Given the description of an element on the screen output the (x, y) to click on. 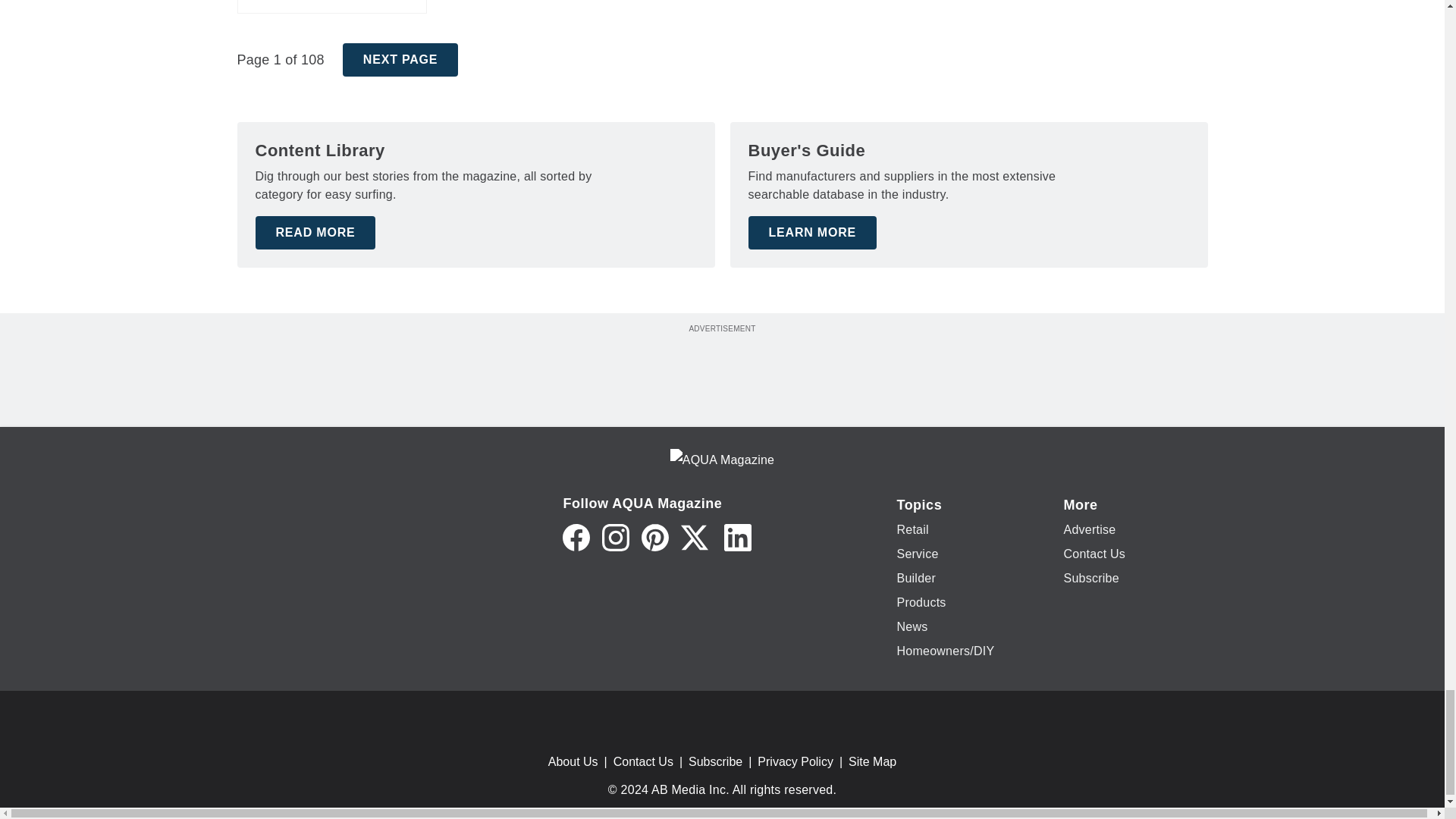
LinkedIn icon (737, 537)
Twitter X icon (694, 537)
Instagram icon (615, 537)
Facebook icon (575, 537)
Pinterest icon (655, 537)
